Given the description of an element on the screen output the (x, y) to click on. 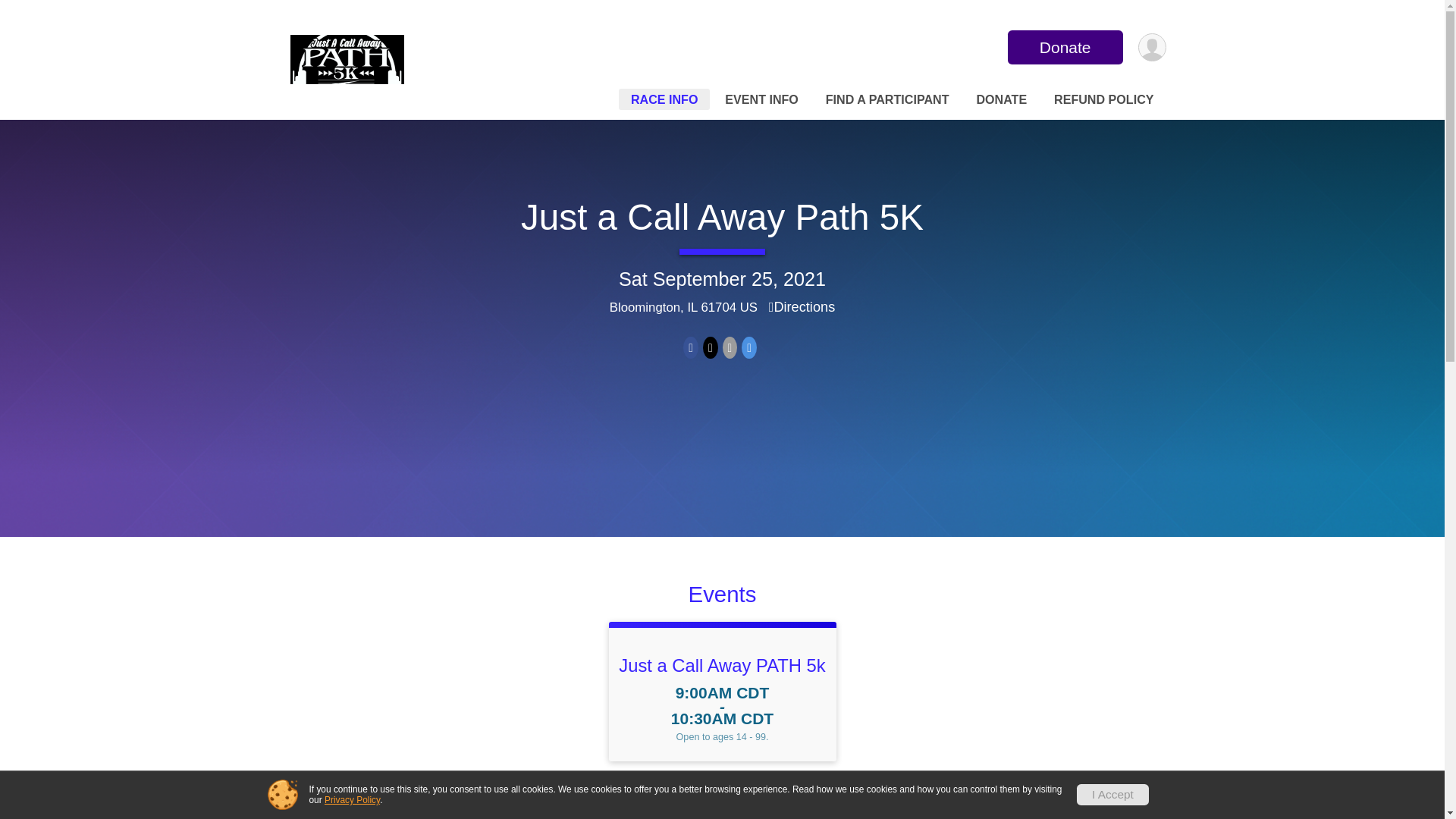
Just a Call Away PATH 5k (721, 665)
Donate (1064, 47)
RACE INFO (664, 98)
DONATE (1000, 98)
Directions (801, 306)
EVENT INFO (761, 98)
Just a Call Away Path 5K (722, 217)
REFUND POLICY (1103, 98)
FIND A PARTICIPANT (887, 98)
